Given the description of an element on the screen output the (x, y) to click on. 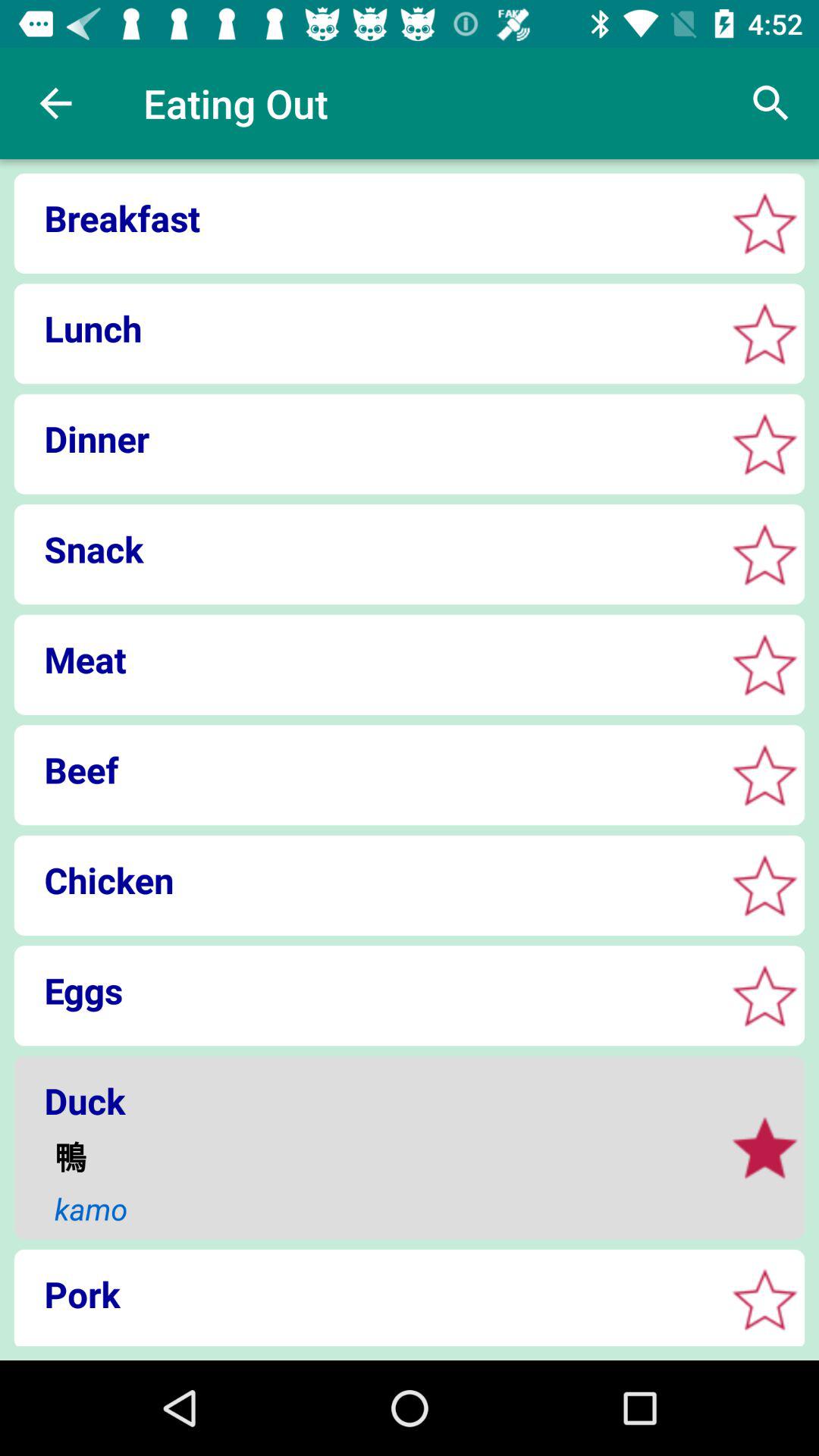
favourites option (764, 995)
